Given the description of an element on the screen output the (x, y) to click on. 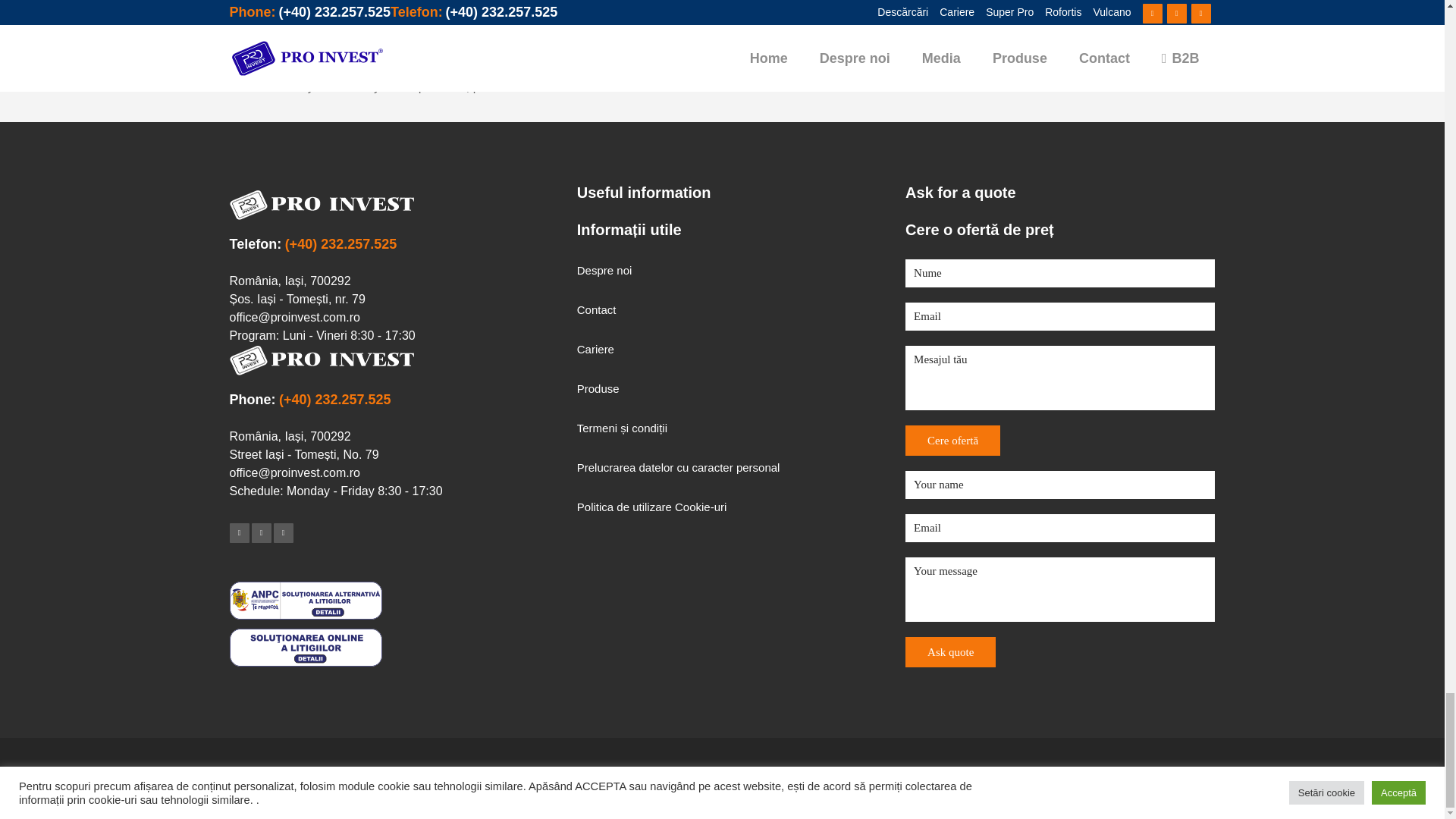
Ask quote (950, 652)
Ask quote (950, 652)
Produse (729, 388)
Prelucrarea datelor cu caracter personal (729, 467)
Skyrol Digital Solutions (873, 778)
Politica de utilizare Cookie-uri (729, 506)
Cariere (729, 348)
Despre noi (729, 270)
contact form (587, 86)
Contact (729, 309)
PRO INVEST (541, 778)
